Given the description of an element on the screen output the (x, y) to click on. 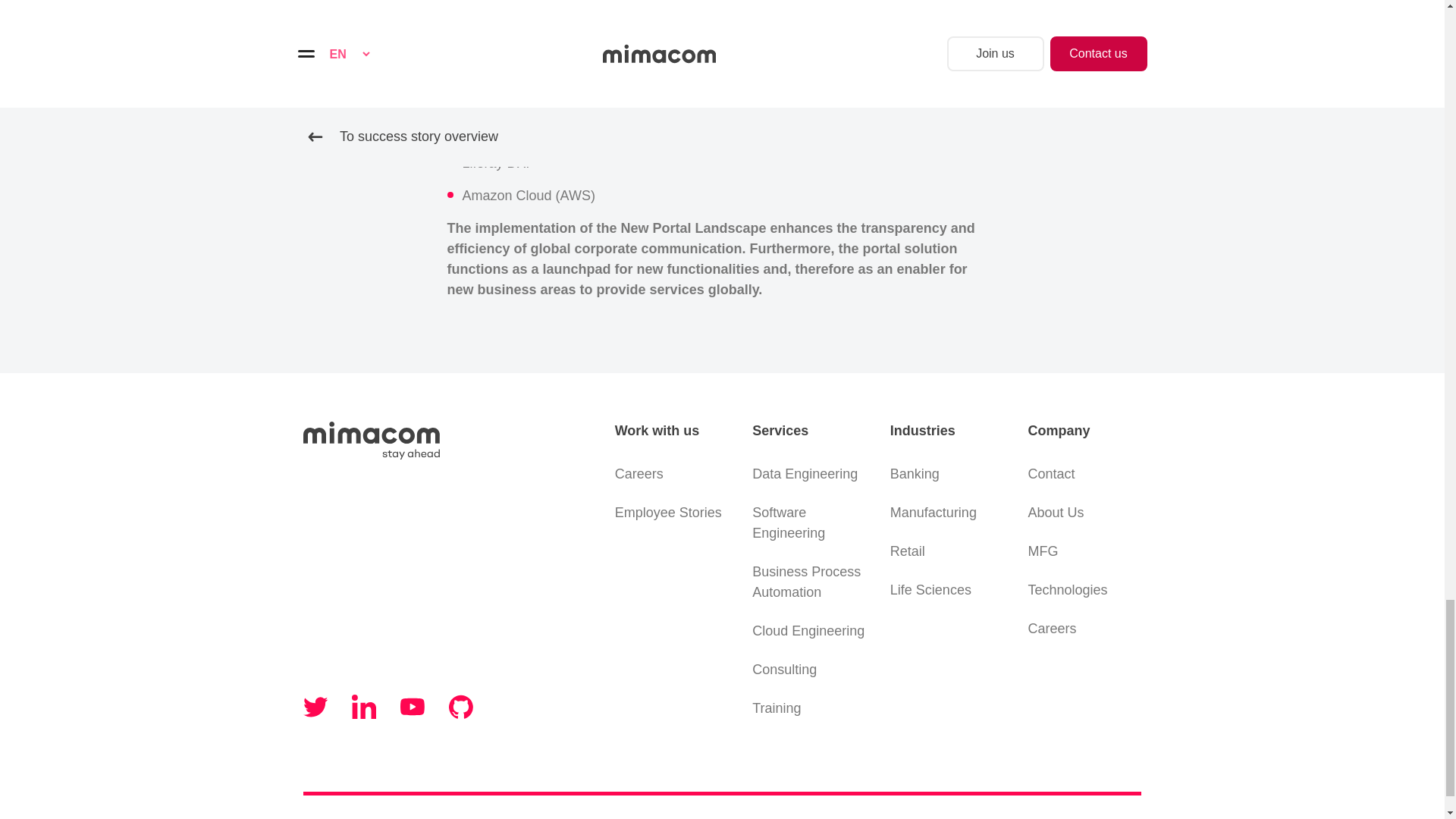
Link to Twitter profile (314, 706)
Link to Linkedin profile (363, 706)
Link to YouTube channel (412, 706)
Link to Github profile (460, 706)
Work with us (671, 430)
